Given the description of an element on the screen output the (x, y) to click on. 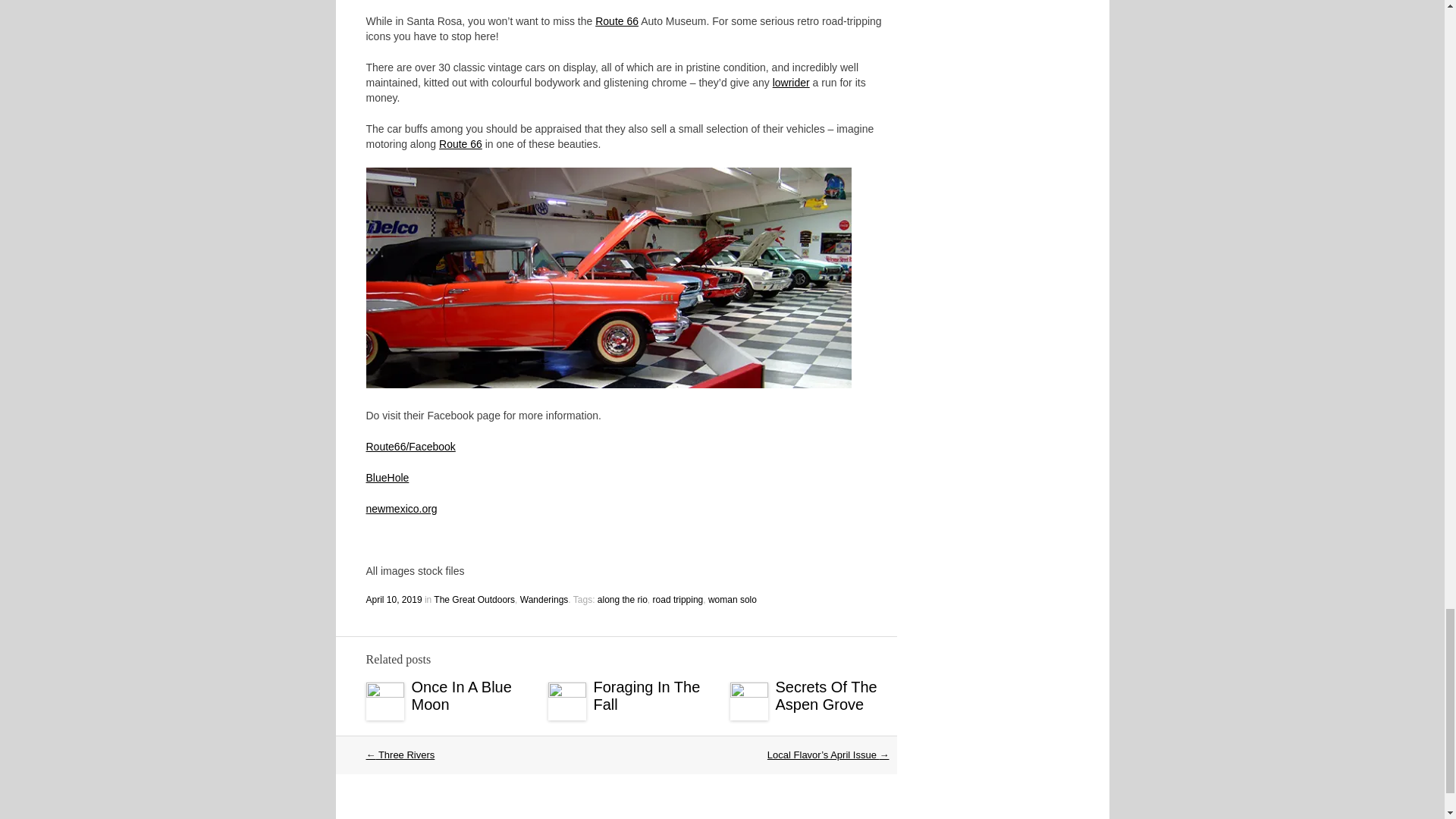
Once In A Blue Moon (460, 695)
Secrets Of The Aspen Grove (825, 695)
Route 66 (617, 21)
Permalink to Secrets Of The Aspen Grove (825, 695)
Route 66 (460, 143)
April 10, 2019 (393, 599)
The Great Outdoors (474, 599)
lowrider (791, 82)
BlueHole (387, 477)
Permalink to Once In A Blue Moon (460, 695)
newmexico.org (400, 508)
along the rio (621, 599)
road tripping (677, 599)
woman solo (732, 599)
